Given the description of an element on the screen output the (x, y) to click on. 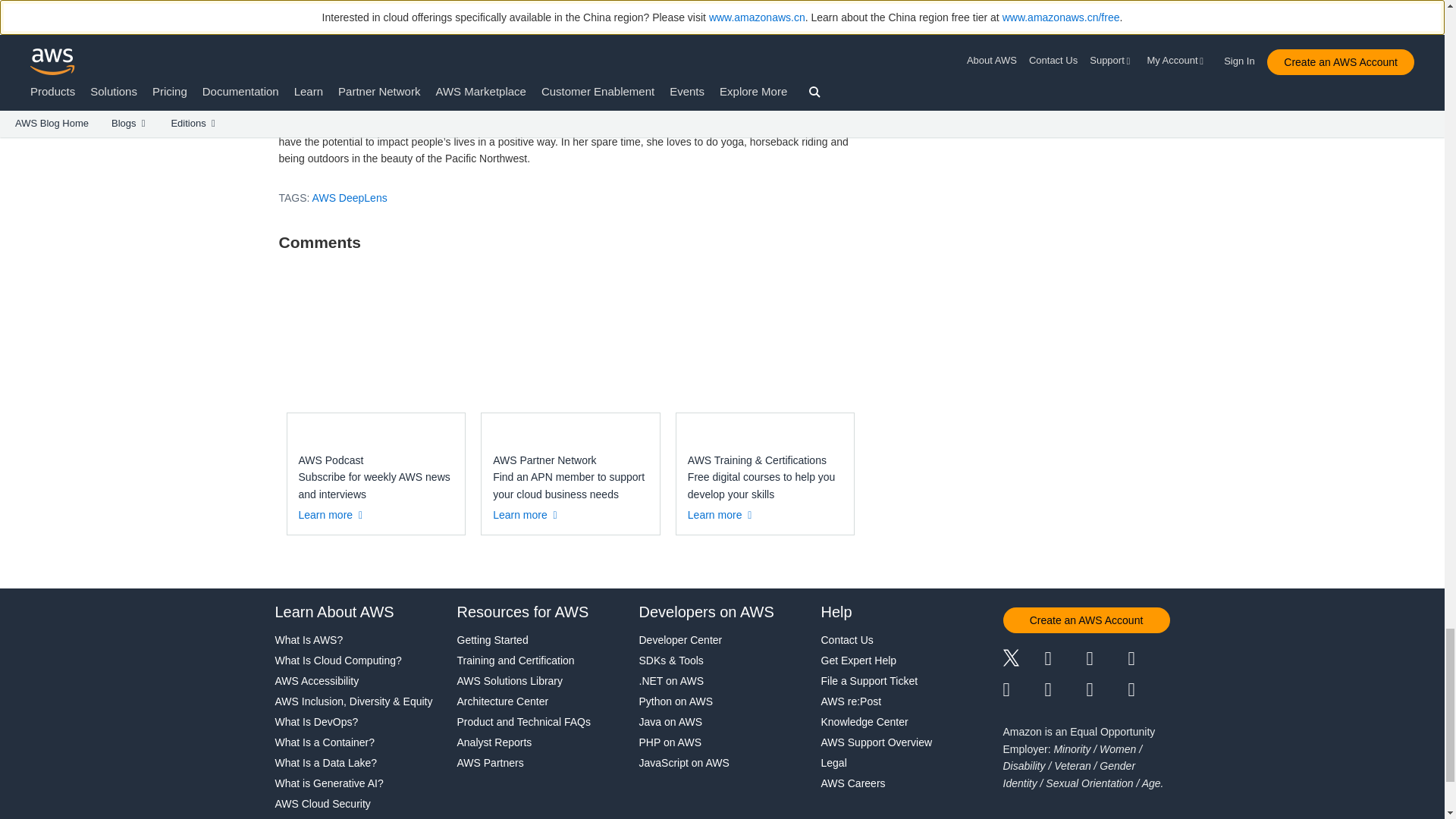
Email (1149, 690)
Twitter (1023, 659)
Facebook (1065, 659)
Podcast (1106, 690)
Twitch (1023, 690)
Linkedin (1106, 659)
Instagram (1149, 659)
YouTube (1065, 690)
